Given the description of an element on the screen output the (x, y) to click on. 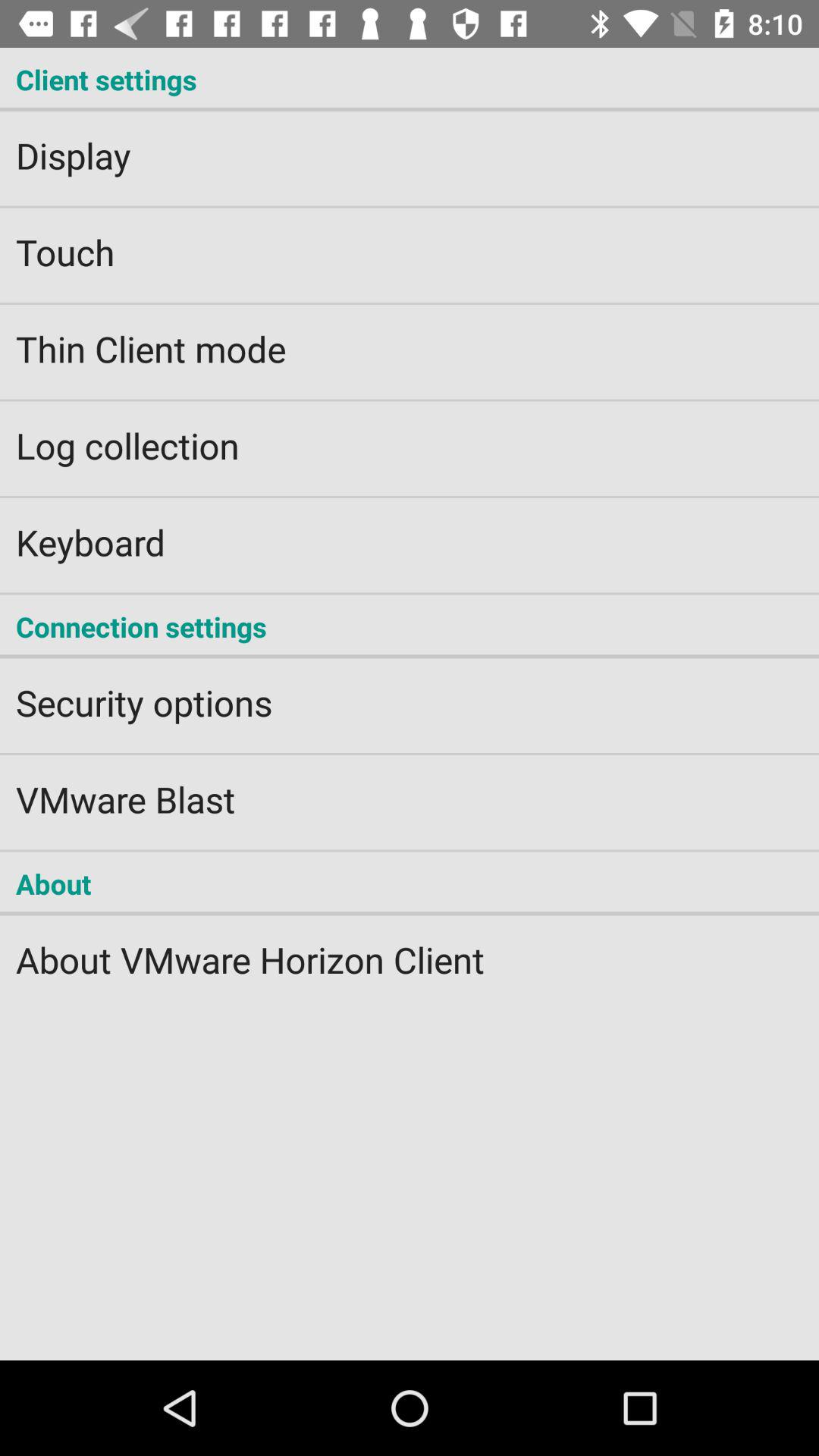
tap the about vmware horizon item (409, 949)
